Given the description of an element on the screen output the (x, y) to click on. 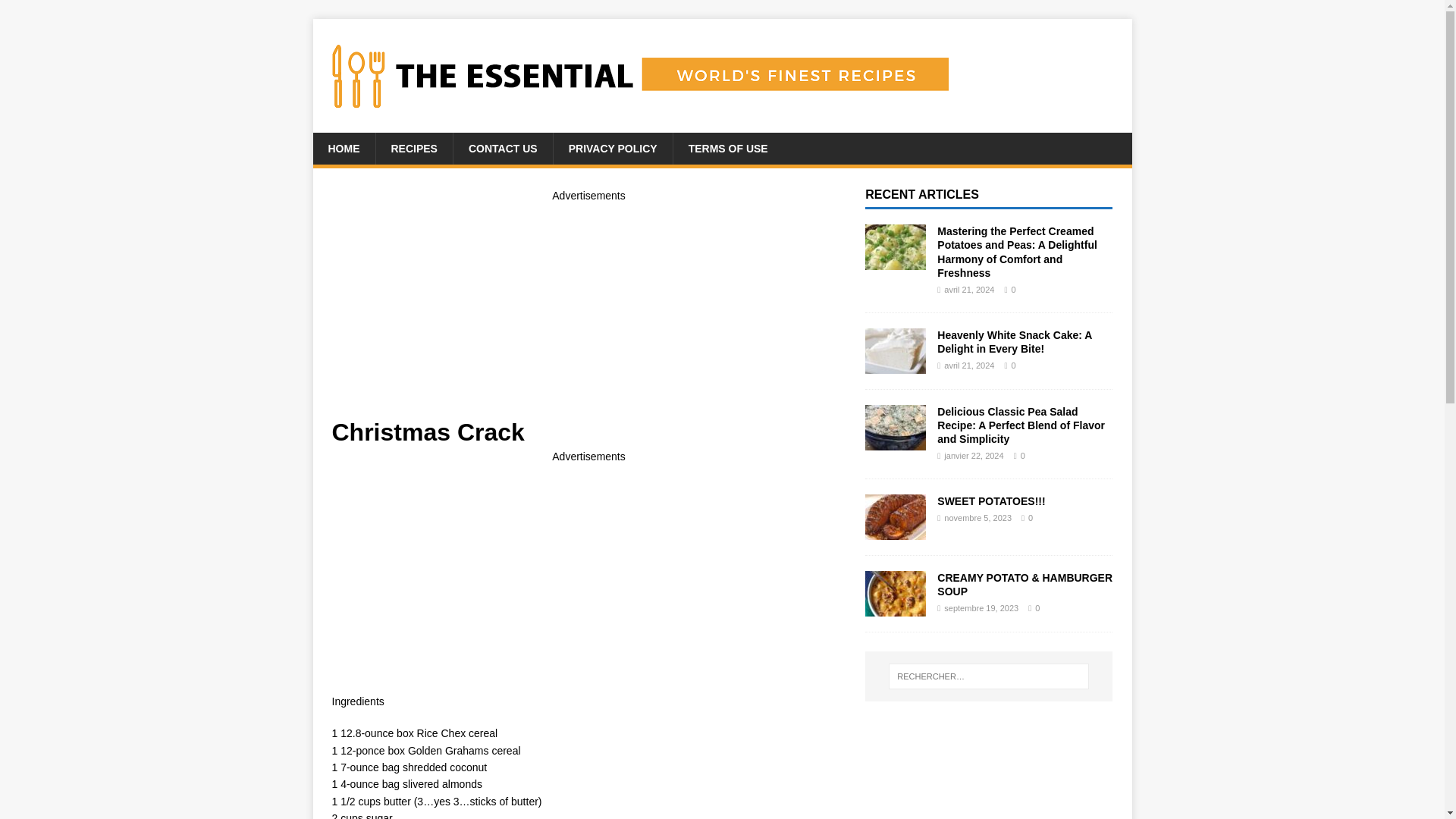
Advertisement (588, 572)
Heavenly White Snack Cake: A Delight in Every Bite! (1014, 341)
TERMS OF USE (727, 148)
Rechercher (56, 11)
HOME (343, 148)
SWEET POTATOES!!! (991, 500)
RECIPES (412, 148)
CONTACT US (502, 148)
SWEET POTATOES!!! (991, 500)
SWEET POTATOES!!! (895, 530)
